Given the description of an element on the screen output the (x, y) to click on. 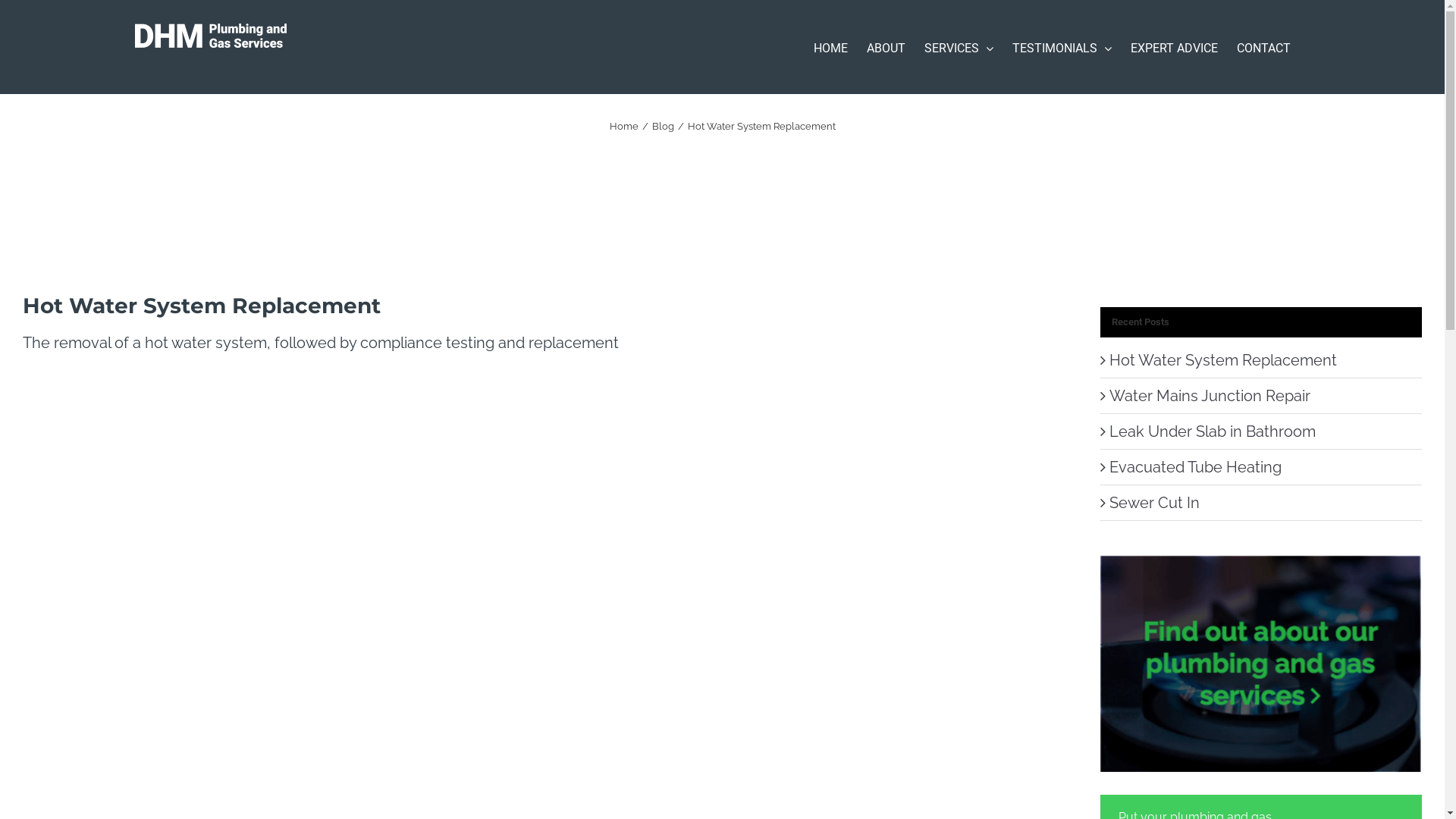
Home Element type: text (623, 125)
ABOUT Element type: text (885, 47)
Sewer Cut In Element type: text (1154, 502)
Blog Element type: text (663, 125)
Hot Water System Replacement Element type: text (1222, 360)
CONTACT Element type: text (1263, 47)
TESTIMONIALS Element type: text (1061, 47)
EXPERT ADVICE Element type: text (1173, 47)
HOME Element type: text (830, 47)
Evacuated Tube Heating Element type: text (1195, 467)
SERVICES Element type: text (958, 47)
Leak Under Slab in Bathroom Element type: text (1212, 431)
Water Mains Junction Repair Element type: text (1209, 395)
